Given the description of an element on the screen output the (x, y) to click on. 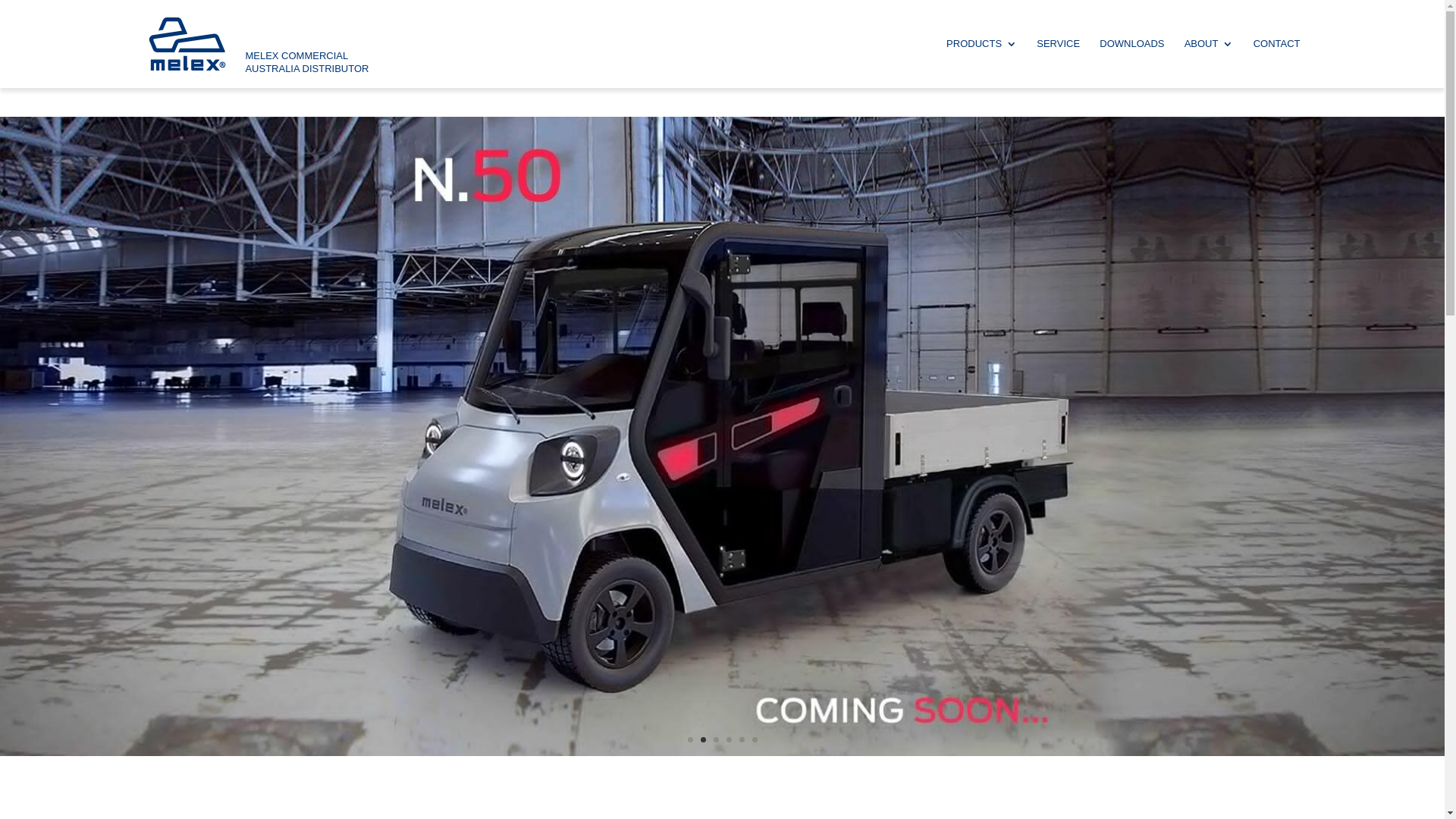
6 Element type: text (754, 739)
2 Element type: text (703, 739)
2 slider-n50 Element type: hover (722, 751)
DOWNLOADS Element type: text (1131, 62)
1 Element type: text (689, 739)
PRODUCTS Element type: text (981, 62)
3 Element type: text (715, 739)
ABOUT Element type: text (1208, 62)
SERVICE Element type: text (1057, 62)
4 Element type: text (728, 739)
5 Element type: text (740, 739)
CONTACT Element type: text (1276, 62)
